Given the description of an element on the screen output the (x, y) to click on. 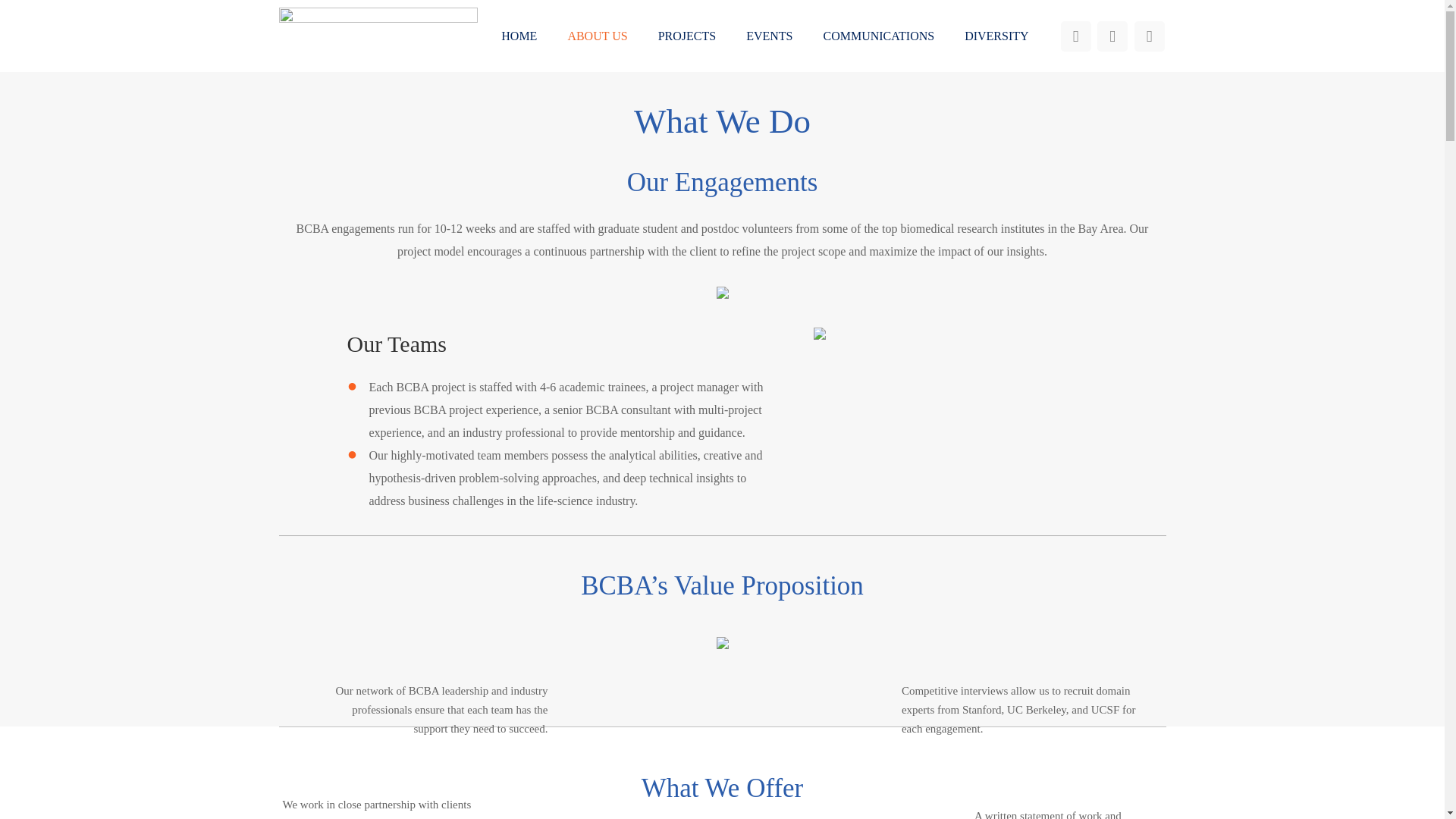
COMMUNICATIONS (878, 35)
ABOUT US (597, 35)
HOME (518, 35)
EVENTS (768, 35)
PROJECTS (687, 35)
DIVERSITY (995, 35)
